Given the description of an element on the screen output the (x, y) to click on. 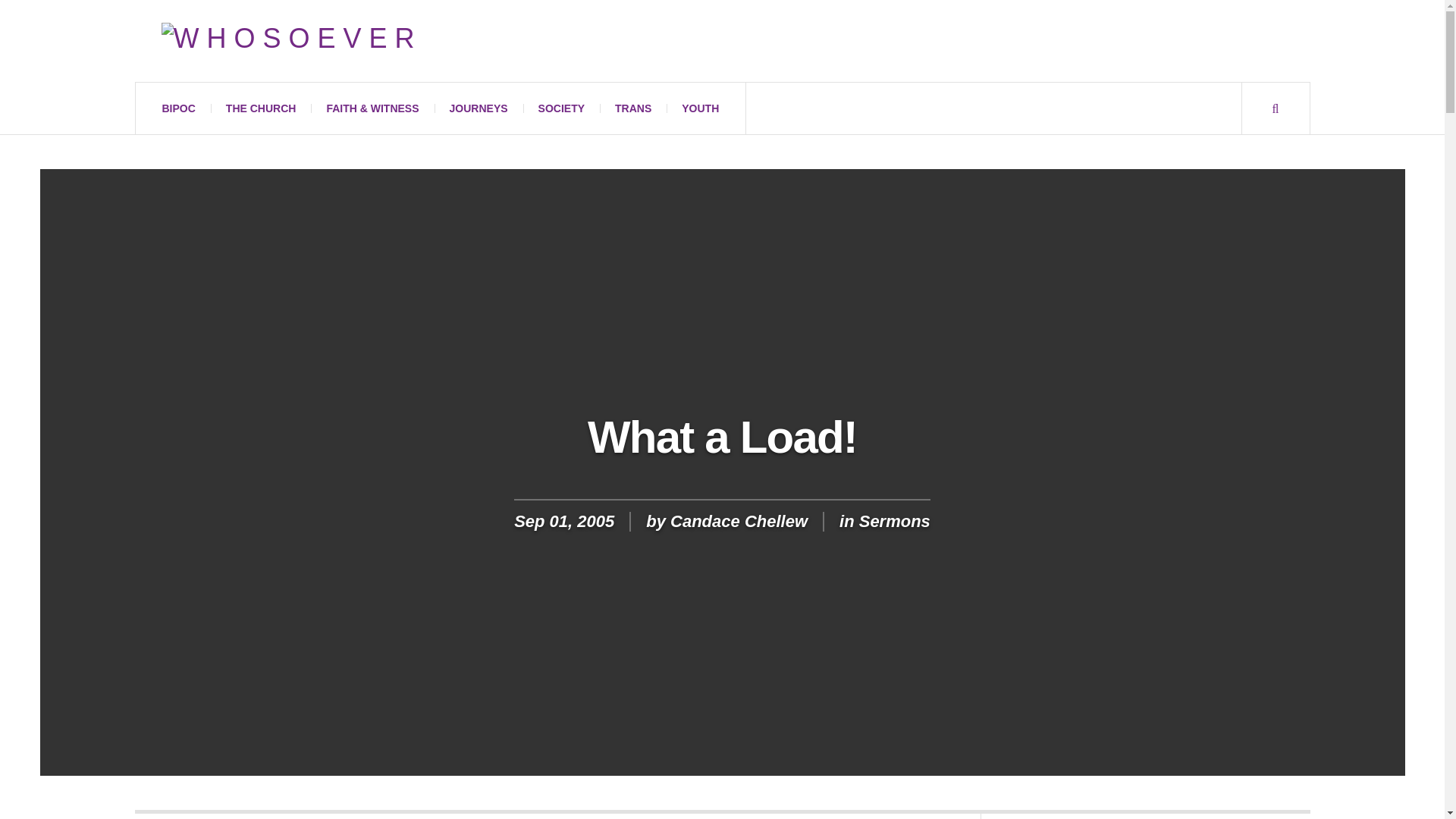
Candace Chellew (738, 520)
View all posts in Sermons (894, 520)
YOUTH (699, 108)
BIPOC (179, 108)
TRANS (632, 108)
Sermons (894, 520)
JOURNEYS (477, 108)
Whosoever (291, 40)
SOCIETY (560, 108)
THE CHURCH (261, 108)
